Given the description of an element on the screen output the (x, y) to click on. 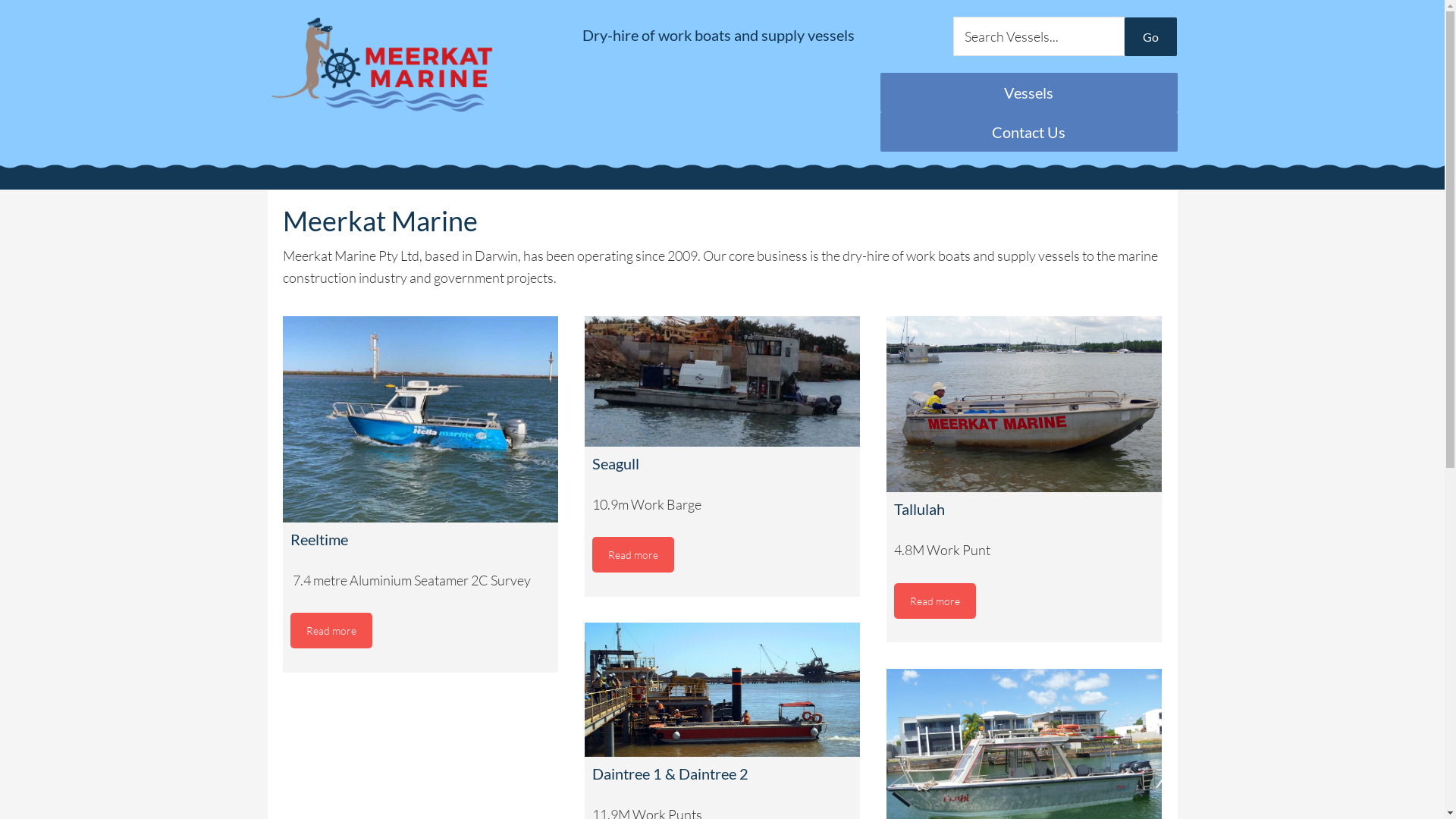
Read more Element type: text (934, 600)
Vessels Element type: text (1027, 92)
Contact Us Element type: text (1027, 131)
Tallulah Element type: hover (1023, 404)
Meerkat Marine Element type: text (402, 65)
Read more Element type: text (632, 554)
Seagull Element type: hover (721, 381)
Read more Element type: text (330, 630)
Go Element type: text (1150, 36)
Reeltime Element type: hover (419, 419)
Daintree 1 & Daintree 2 Element type: hover (721, 689)
